Given the description of an element on the screen output the (x, y) to click on. 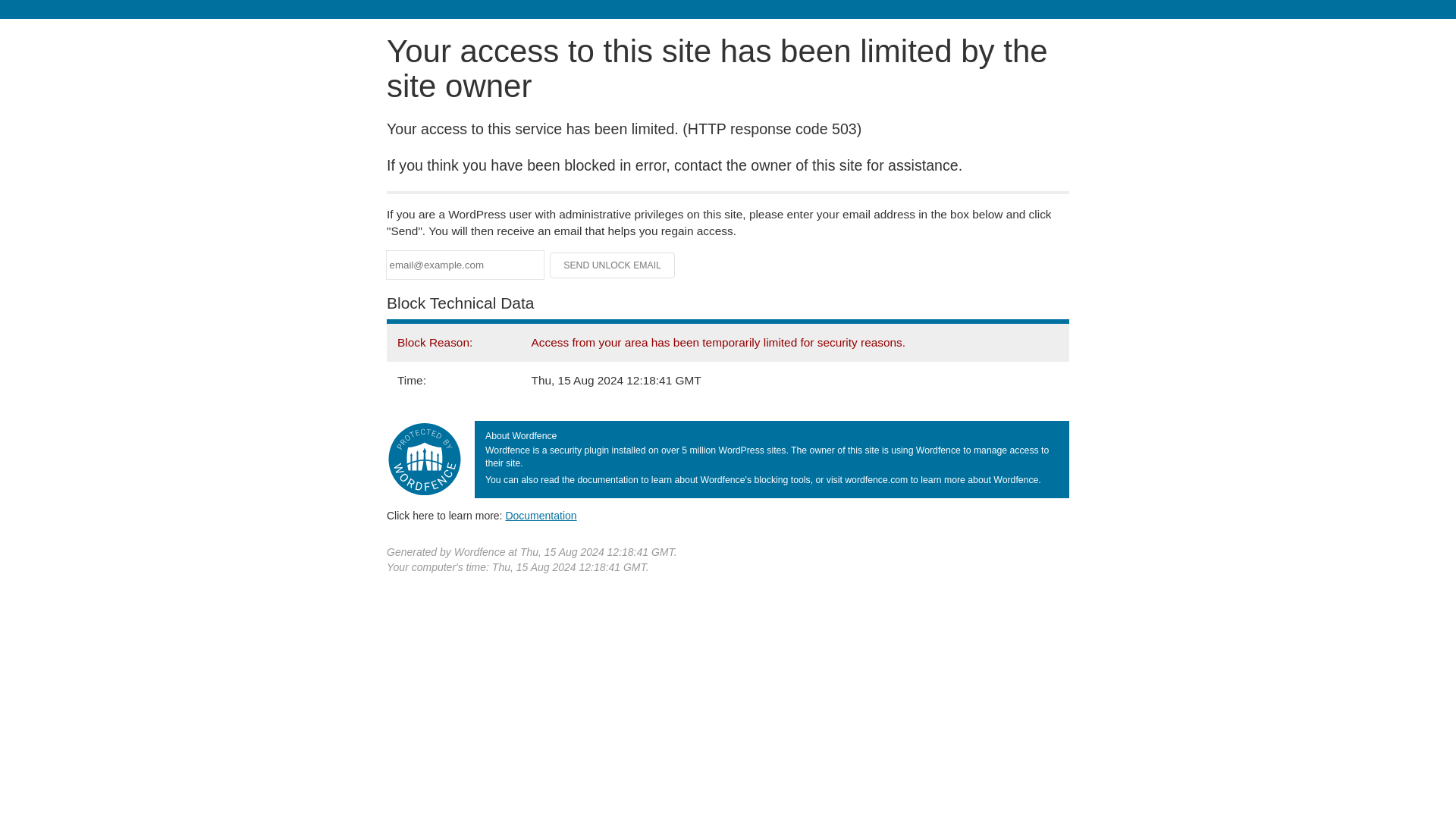
Send Unlock Email (612, 265)
Send Unlock Email (612, 265)
Documentation (540, 515)
